Given the description of an element on the screen output the (x, y) to click on. 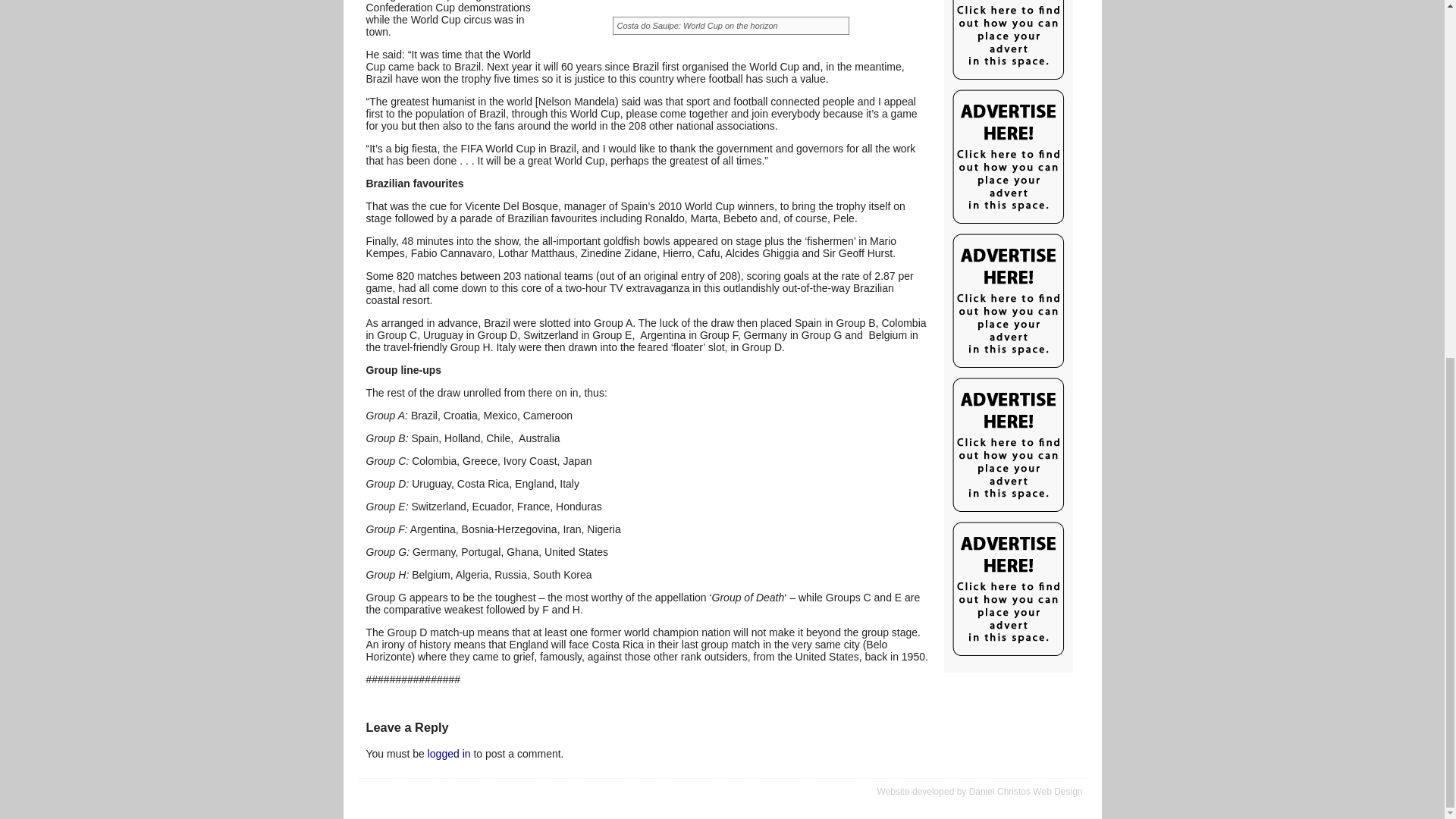
logged in (449, 753)
Daniel Christos Web Design (1026, 791)
wc14-sauipehorizonFR (726, 19)
